Given the description of an element on the screen output the (x, y) to click on. 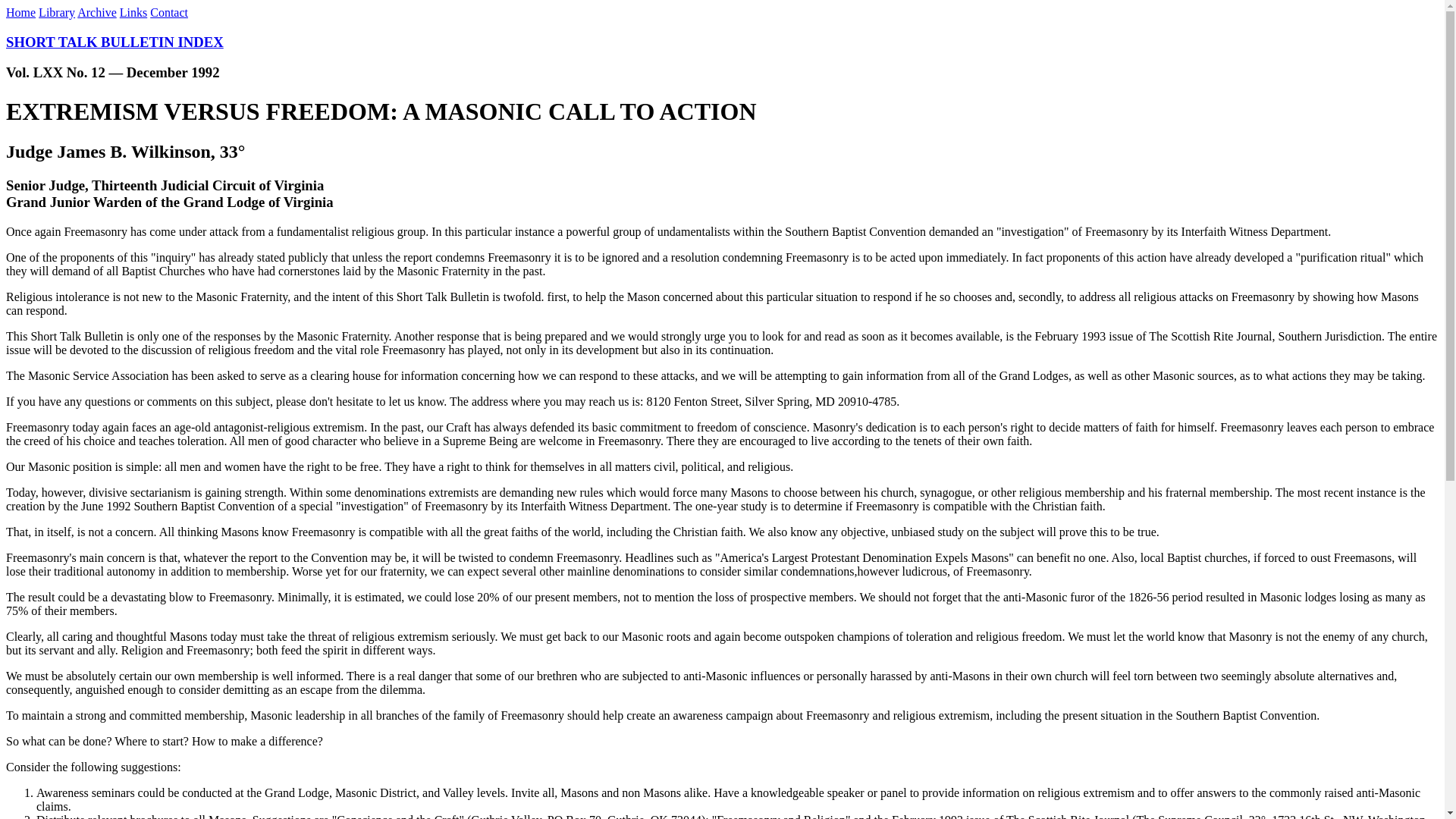
Library (57, 11)
SHORT TALK BULLETIN INDEX (114, 41)
Links (133, 11)
Archive (96, 11)
Home (19, 11)
Contact (168, 11)
